Given the description of an element on the screen output the (x, y) to click on. 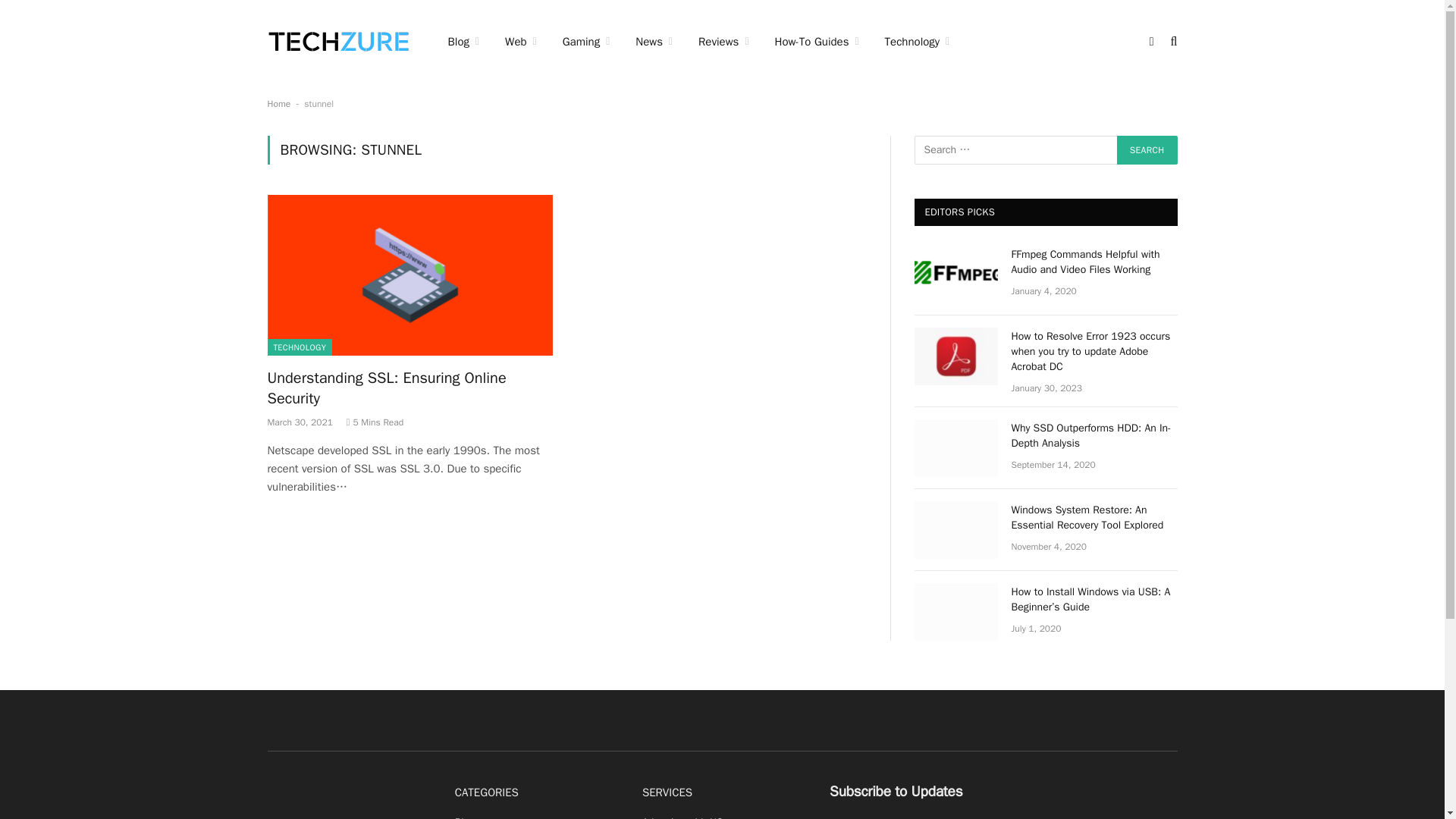
Blog (464, 41)
Search (1146, 149)
Search (1146, 149)
Techzure (336, 41)
Web (521, 41)
